Given the description of an element on the screen output the (x, y) to click on. 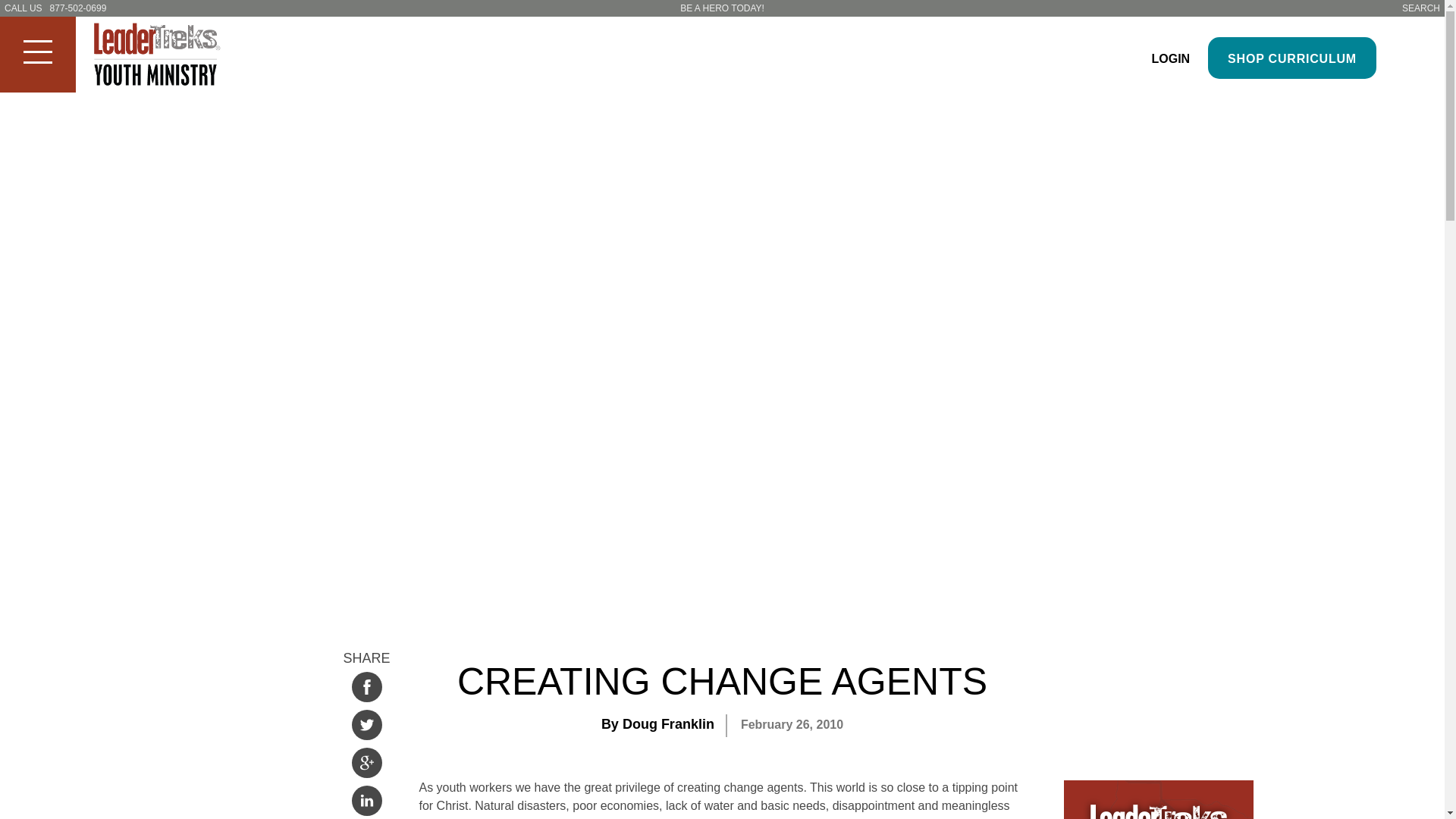
LEADERTREKS YOUTH MINISTRY (168, 56)
LOGIN (1170, 58)
BE A HERO TODAY! (721, 8)
Doug Franklin (668, 724)
SHOP CURRICULUM (1291, 57)
SEARCH (1420, 8)
877-502-0699 (77, 8)
